Given the description of an element on the screen output the (x, y) to click on. 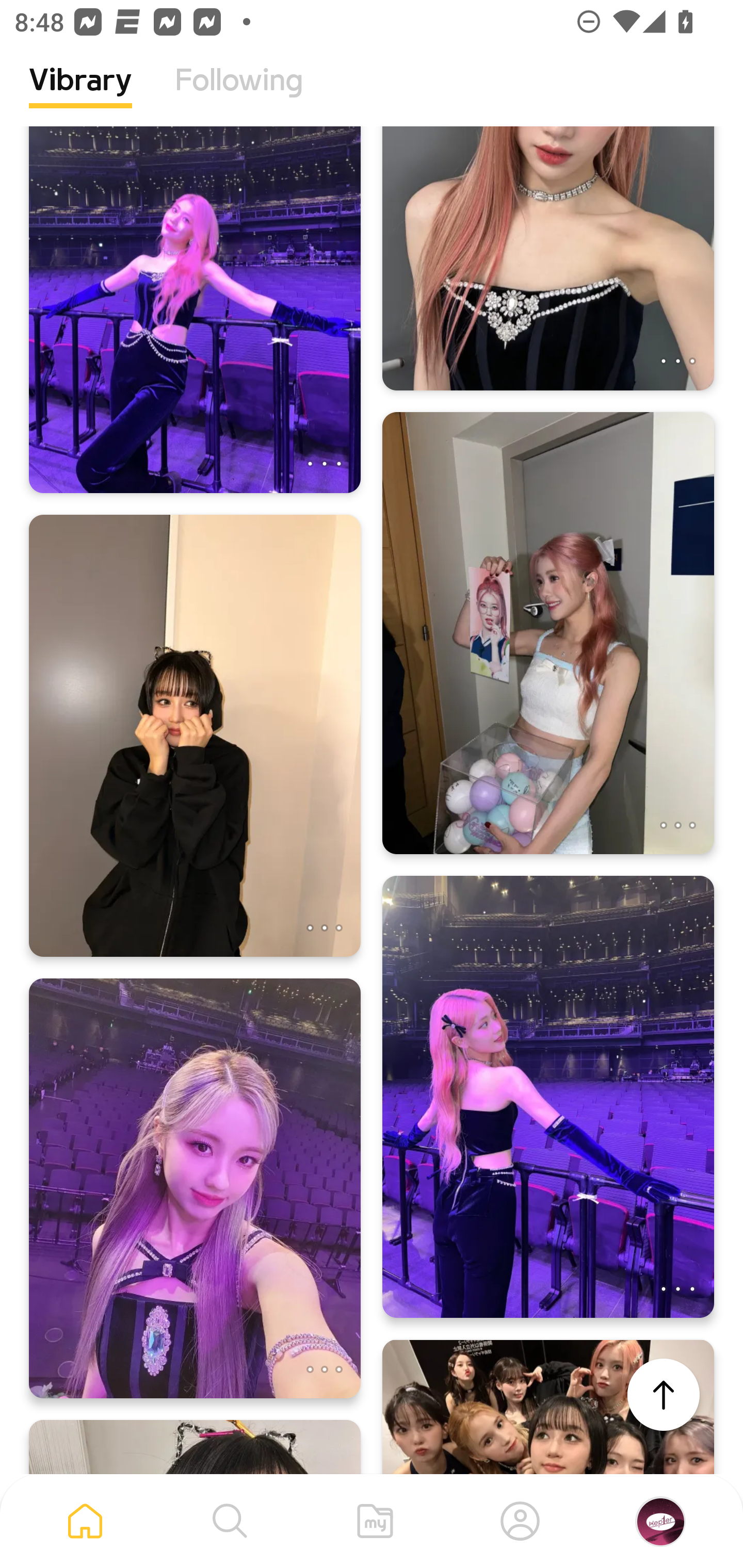
Vibrary (80, 95)
Following (239, 95)
